Given the description of an element on the screen output the (x, y) to click on. 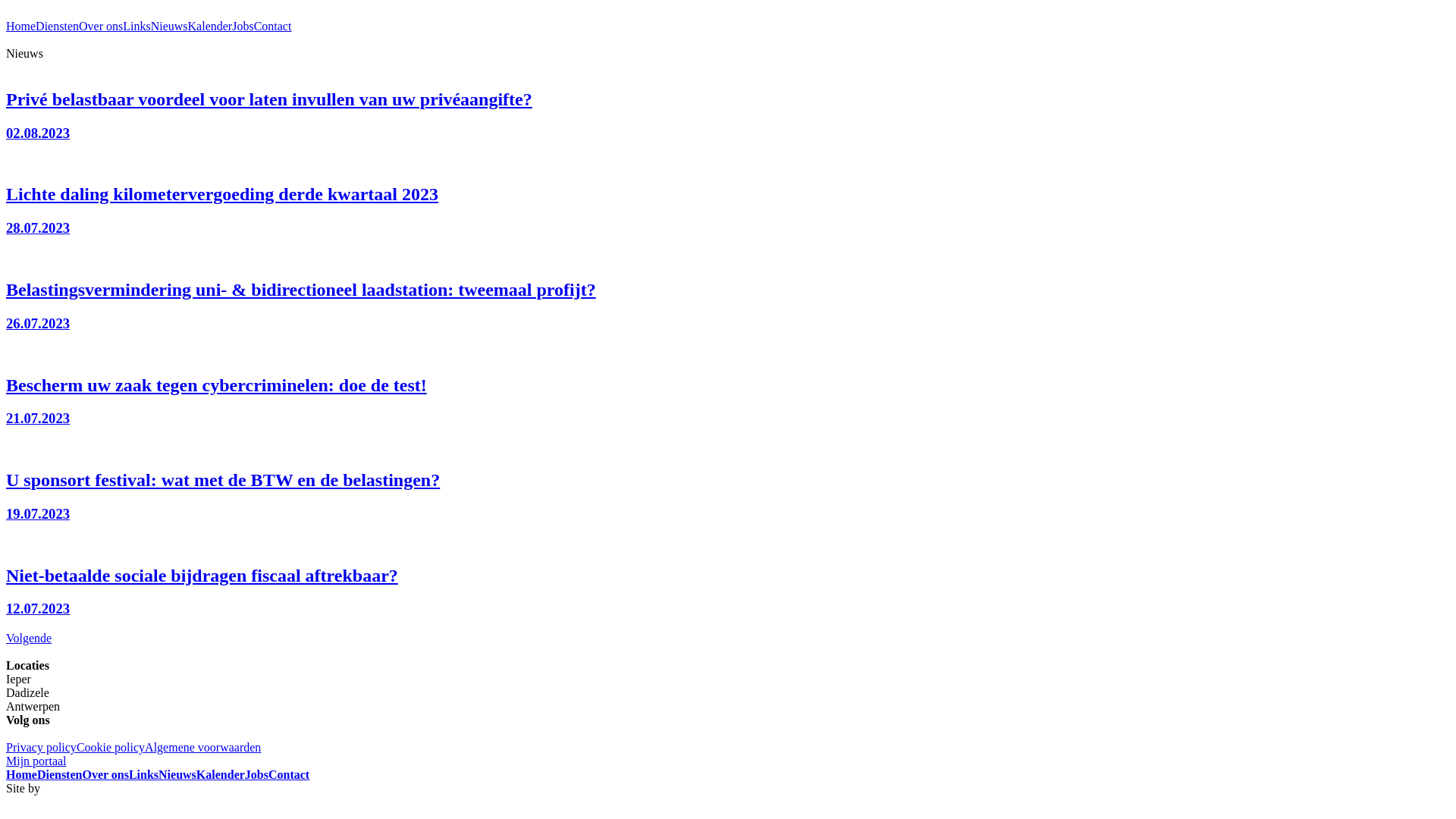
Nieuws Element type: text (177, 774)
Links Element type: text (143, 774)
Over ons Element type: text (104, 774)
Nieuws Element type: text (169, 25)
Home Element type: text (20, 25)
Algemene voorwaarden Element type: text (202, 746)
Over ons Element type: text (100, 25)
Diensten Element type: text (56, 25)
Cookie policy Element type: text (110, 746)
Jobs Element type: text (242, 25)
Privacy policy Element type: text (41, 746)
Contact Element type: text (288, 774)
Home Element type: text (21, 774)
Diensten Element type: text (59, 774)
Mijn portaal Element type: text (36, 760)
Volgende Element type: text (727, 638)
Jobs Element type: text (256, 774)
Links Element type: text (136, 25)
Contact Element type: text (272, 25)
Kalender Element type: text (210, 25)
Kalender Element type: text (220, 774)
